Given the description of an element on the screen output the (x, y) to click on. 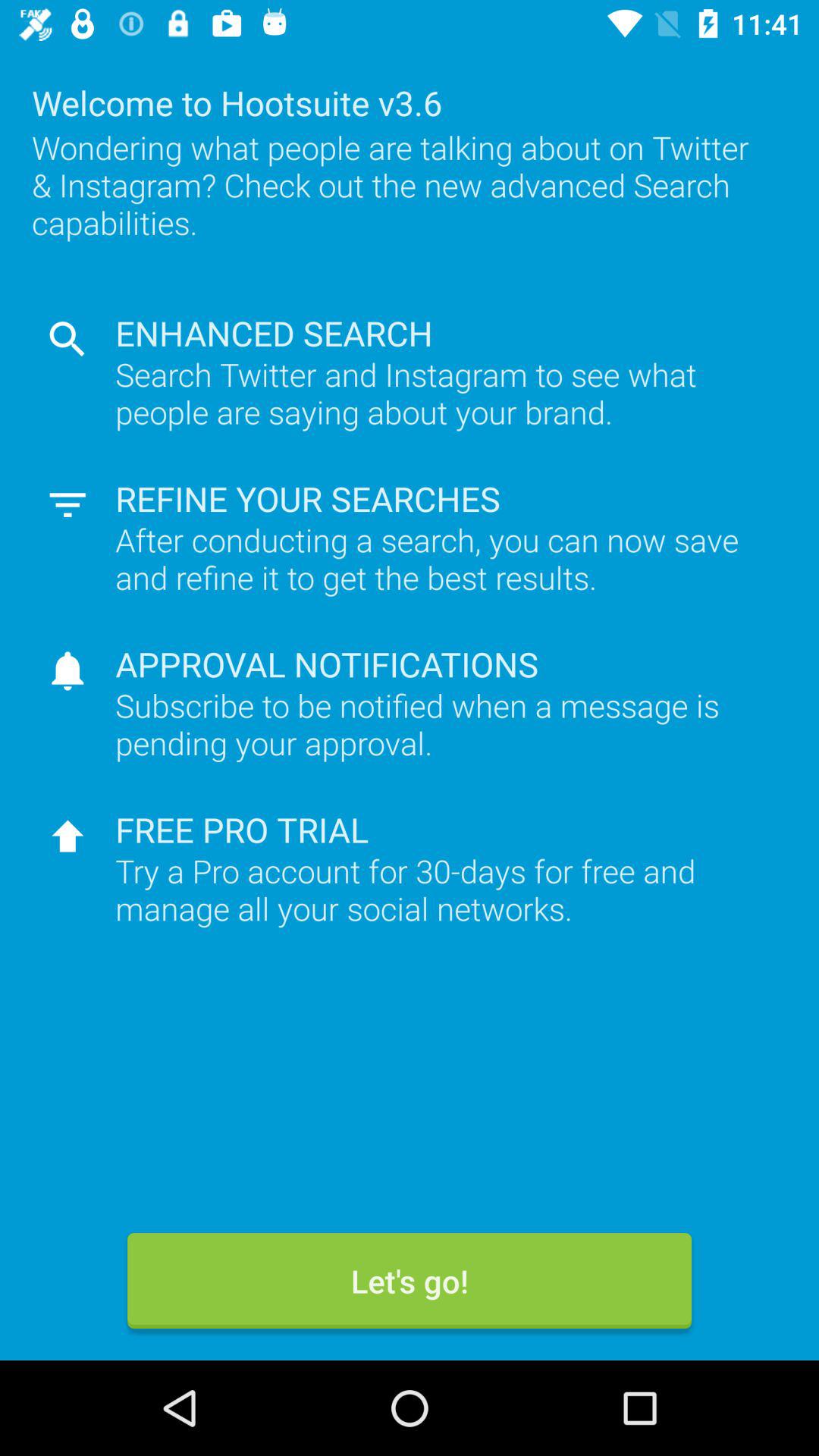
turn on the item below try a pro item (409, 1280)
